Given the description of an element on the screen output the (x, y) to click on. 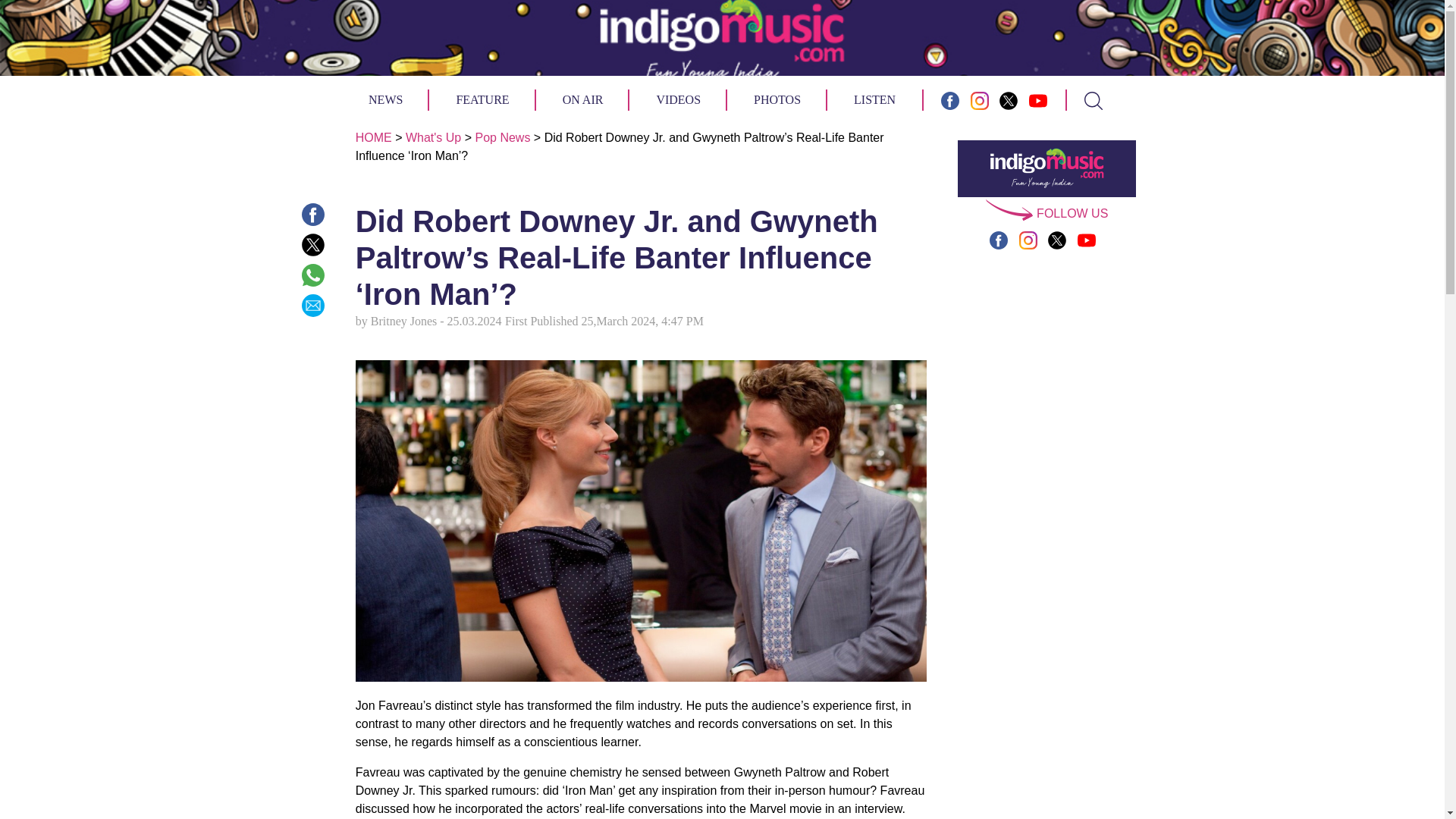
HOME (373, 137)
NEWS (385, 99)
Go to the Pop News Category archives. (501, 137)
PHOTOS (776, 99)
Go to the What's Up Category archives. (433, 137)
VIDEOS (677, 99)
ON AIR (582, 99)
Share by Email (312, 305)
What's Up (433, 137)
FEATURE (482, 99)
Click to share this post on Twitter (312, 244)
LISTEN (874, 99)
Go to HOME. (373, 137)
Pop News (501, 137)
